Given the description of an element on the screen output the (x, y) to click on. 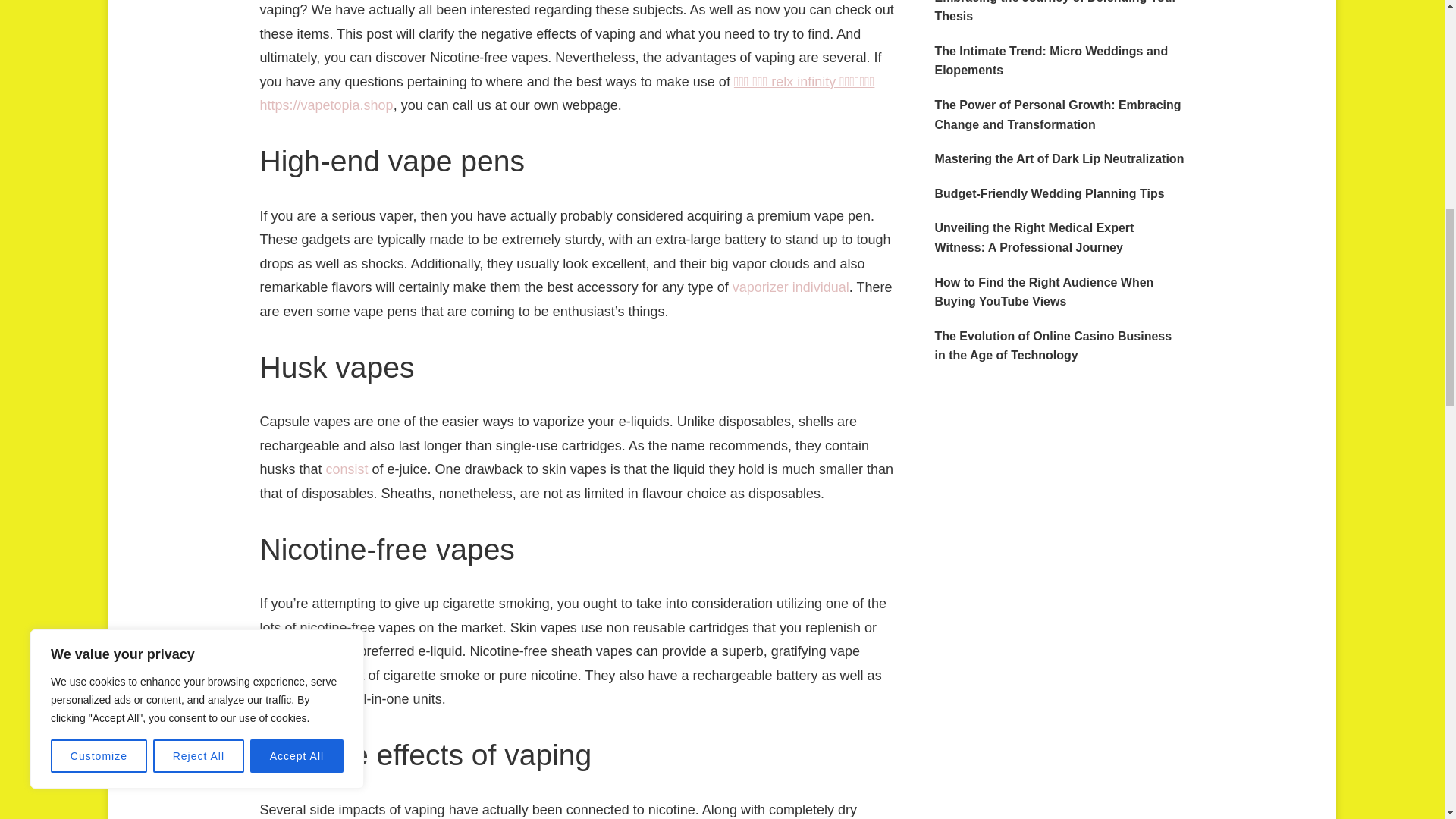
consist (347, 468)
vaporizer individual (790, 287)
